Given the description of an element on the screen output the (x, y) to click on. 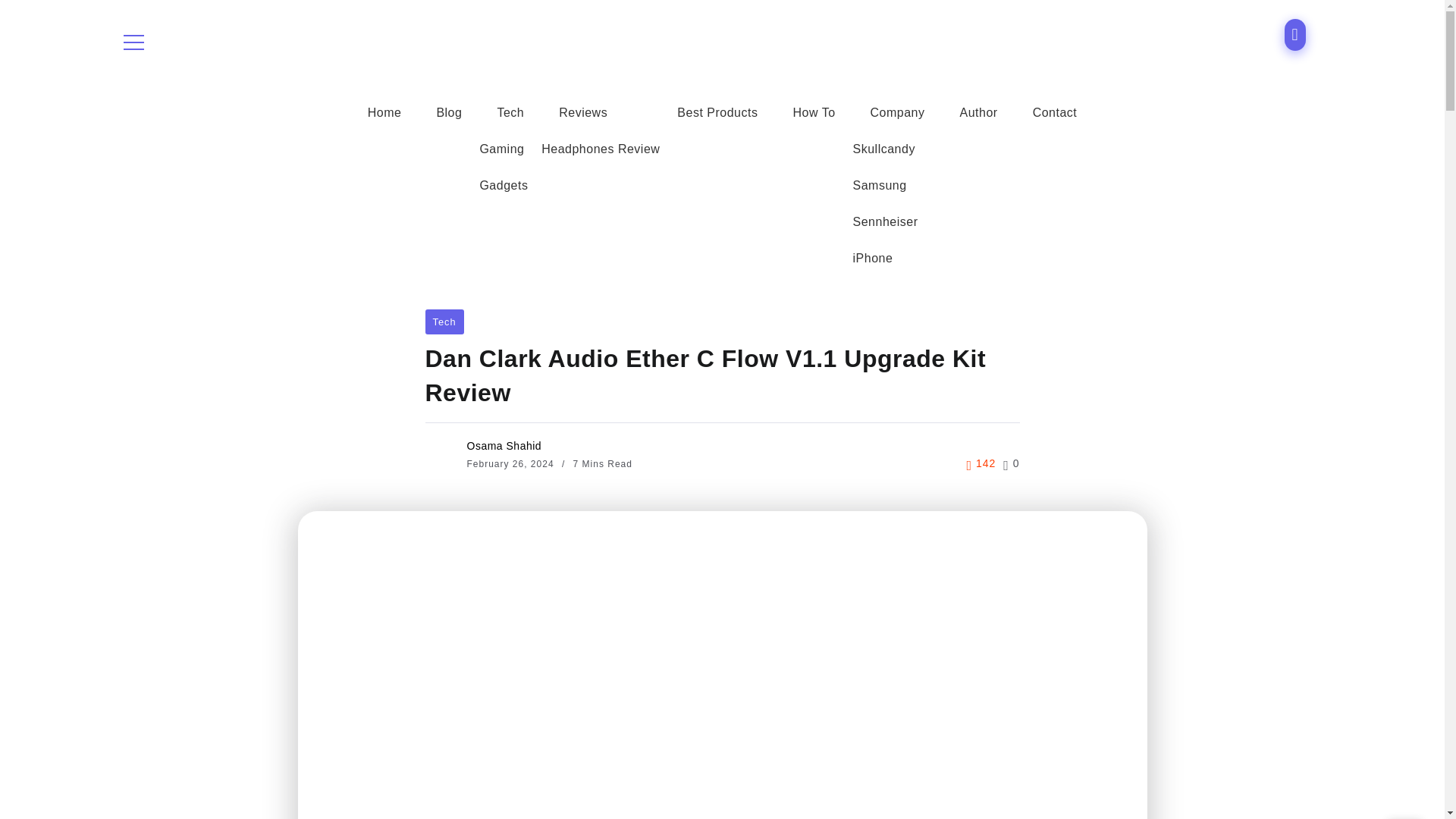
Gadgets (503, 185)
Home (384, 112)
Headphones Review (600, 149)
Desire Nation (706, 41)
Gaming (501, 149)
Tech (509, 112)
Blog (448, 112)
Reviews (583, 112)
